Given the description of an element on the screen output the (x, y) to click on. 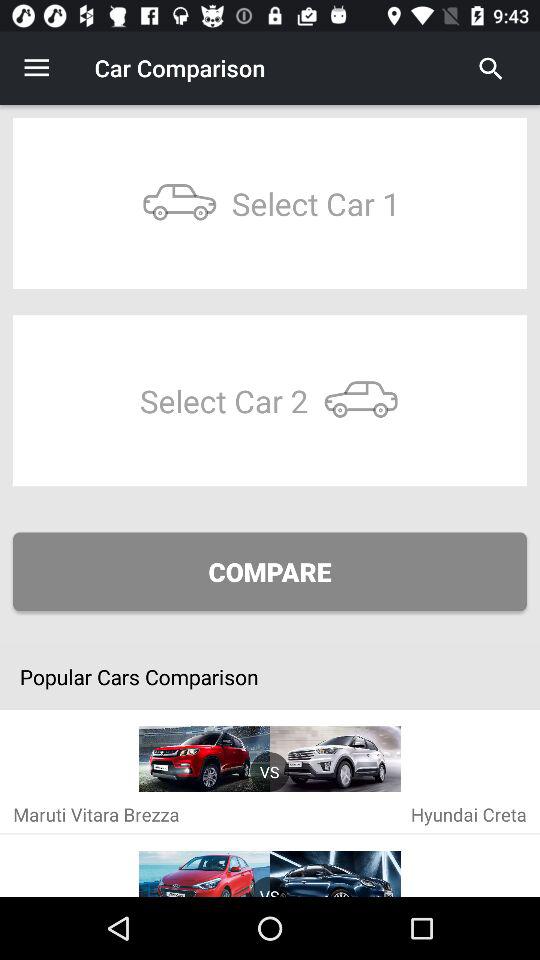
select the item next to the car comparison (491, 68)
